Given the description of an element on the screen output the (x, y) to click on. 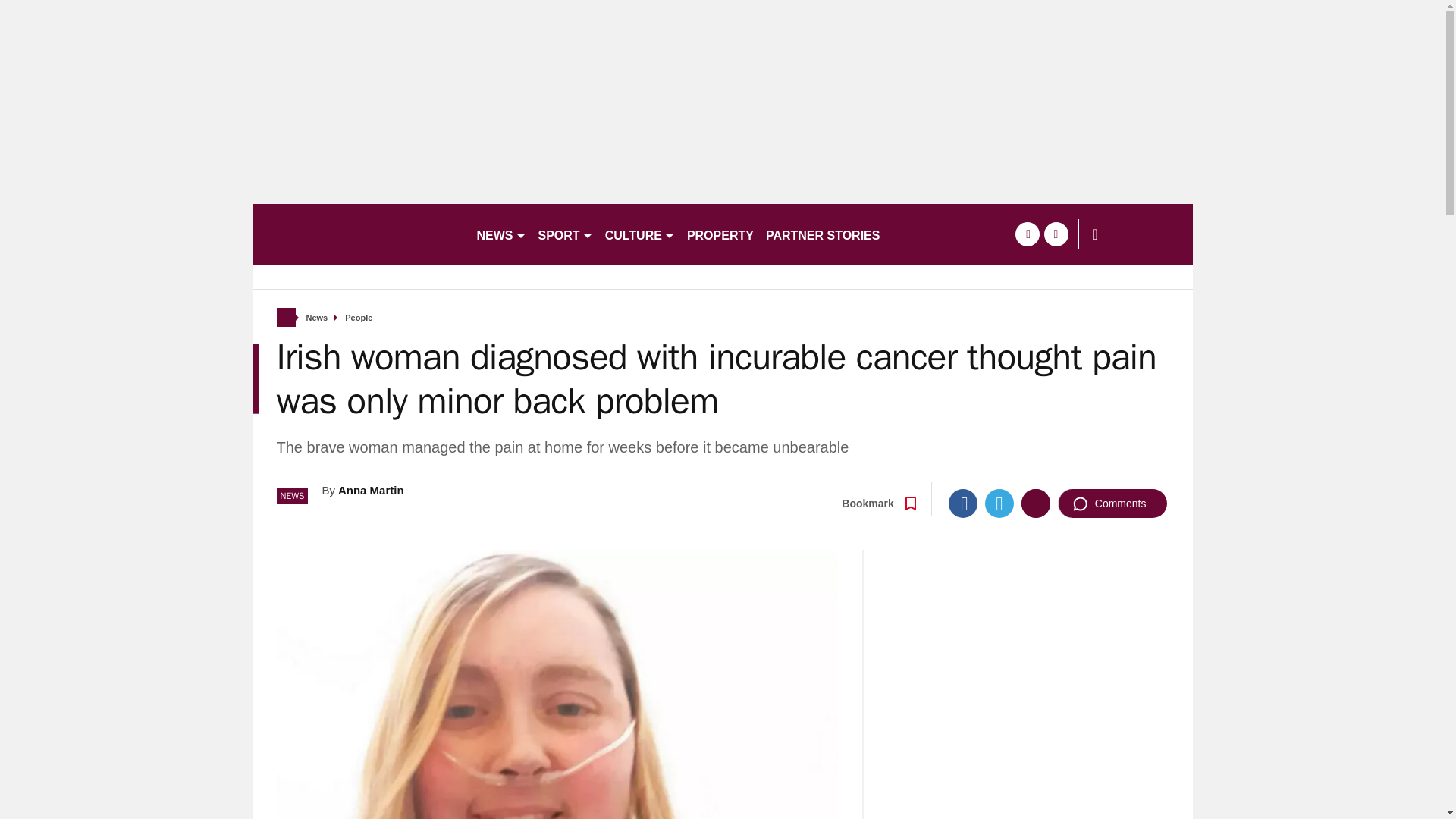
NEWS (500, 233)
Comments (1112, 502)
SPORT (565, 233)
PARTNER STORIES (823, 233)
galwaybeo (357, 233)
Facebook (962, 502)
facebook (1026, 233)
PROPERTY (720, 233)
twitter (1055, 233)
Twitter (999, 502)
